Given the description of an element on the screen output the (x, y) to click on. 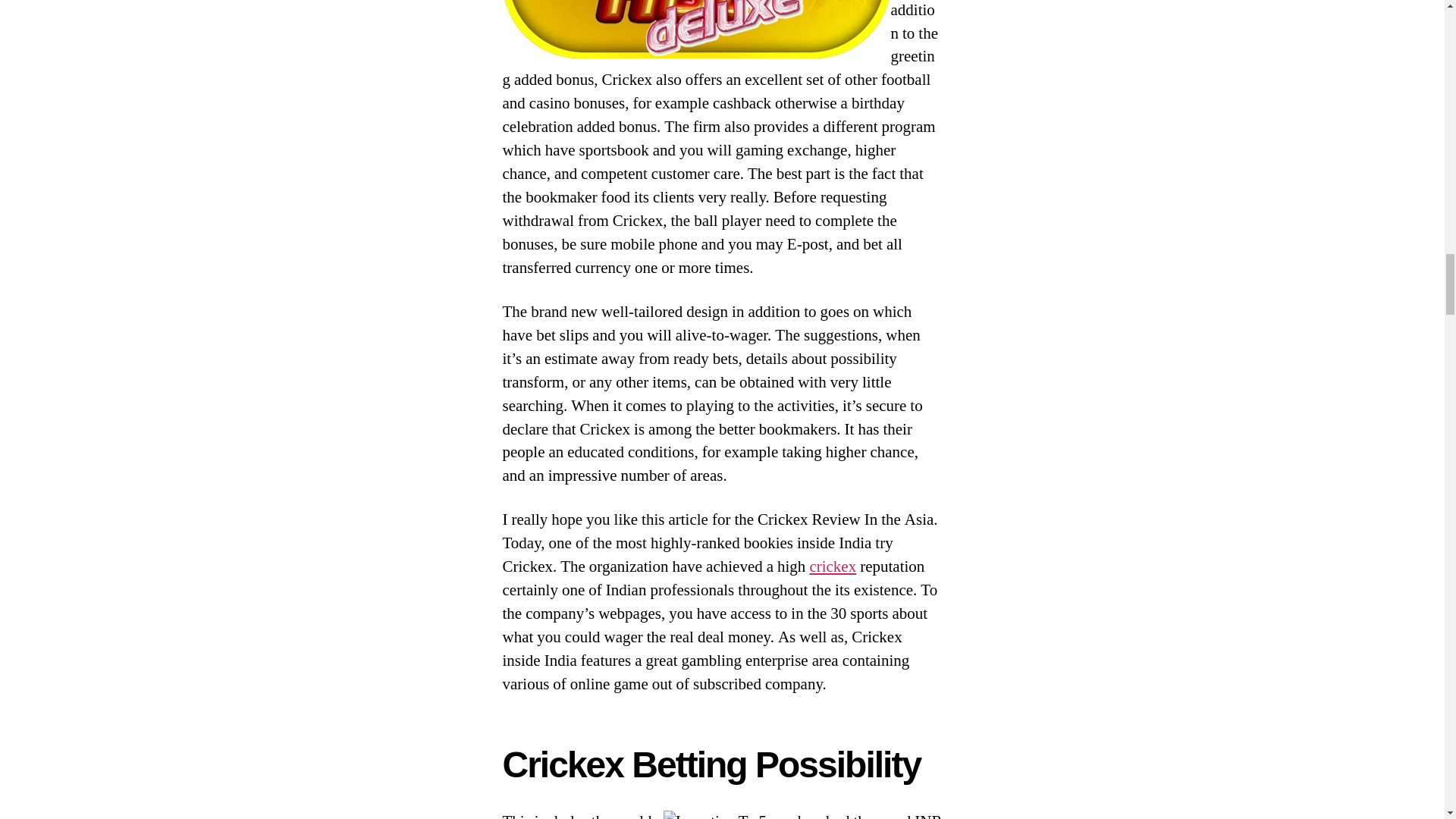
crickex (832, 566)
